Given the description of an element on the screen output the (x, y) to click on. 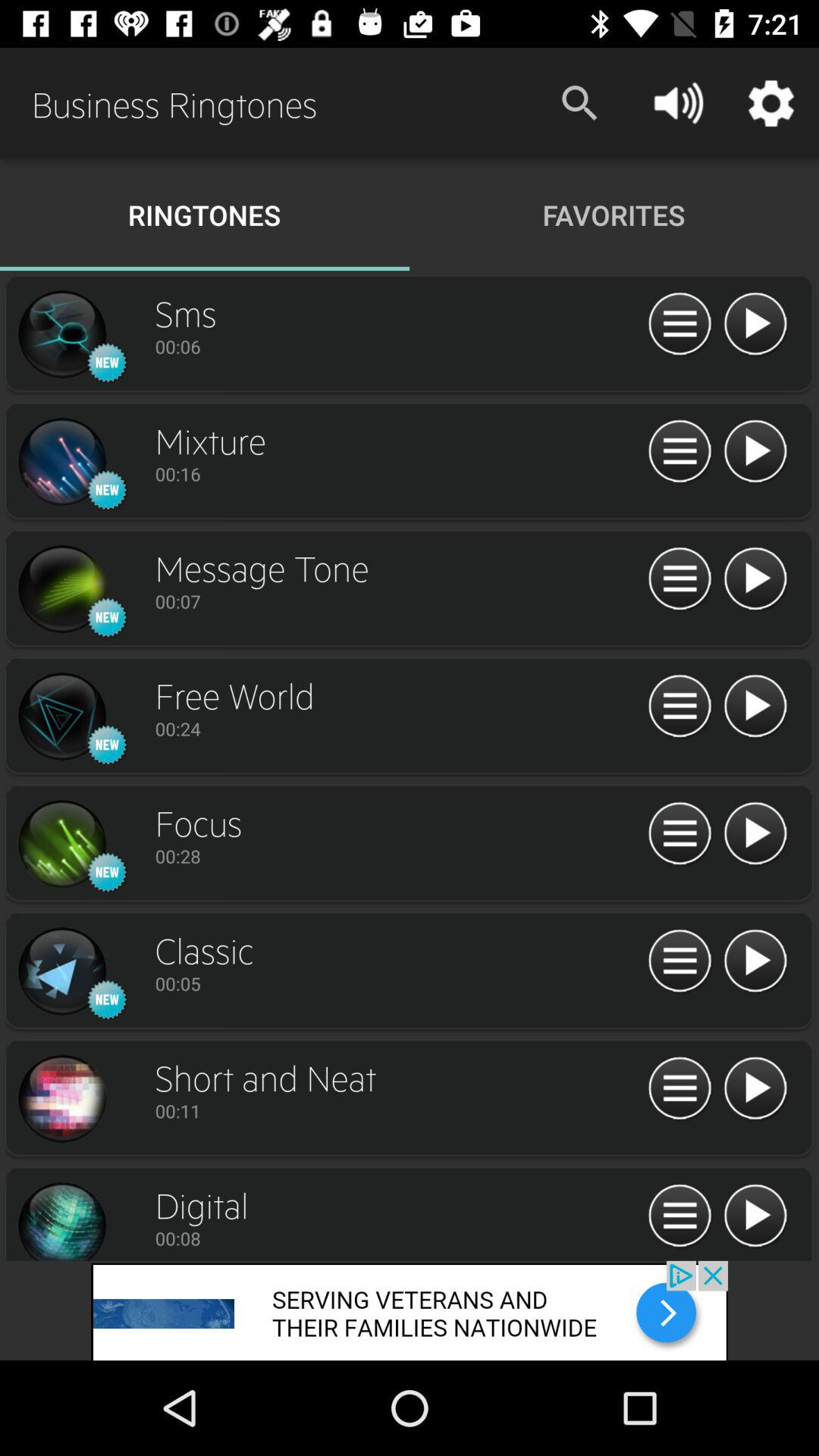
select tone (61, 462)
